Given the description of an element on the screen output the (x, y) to click on. 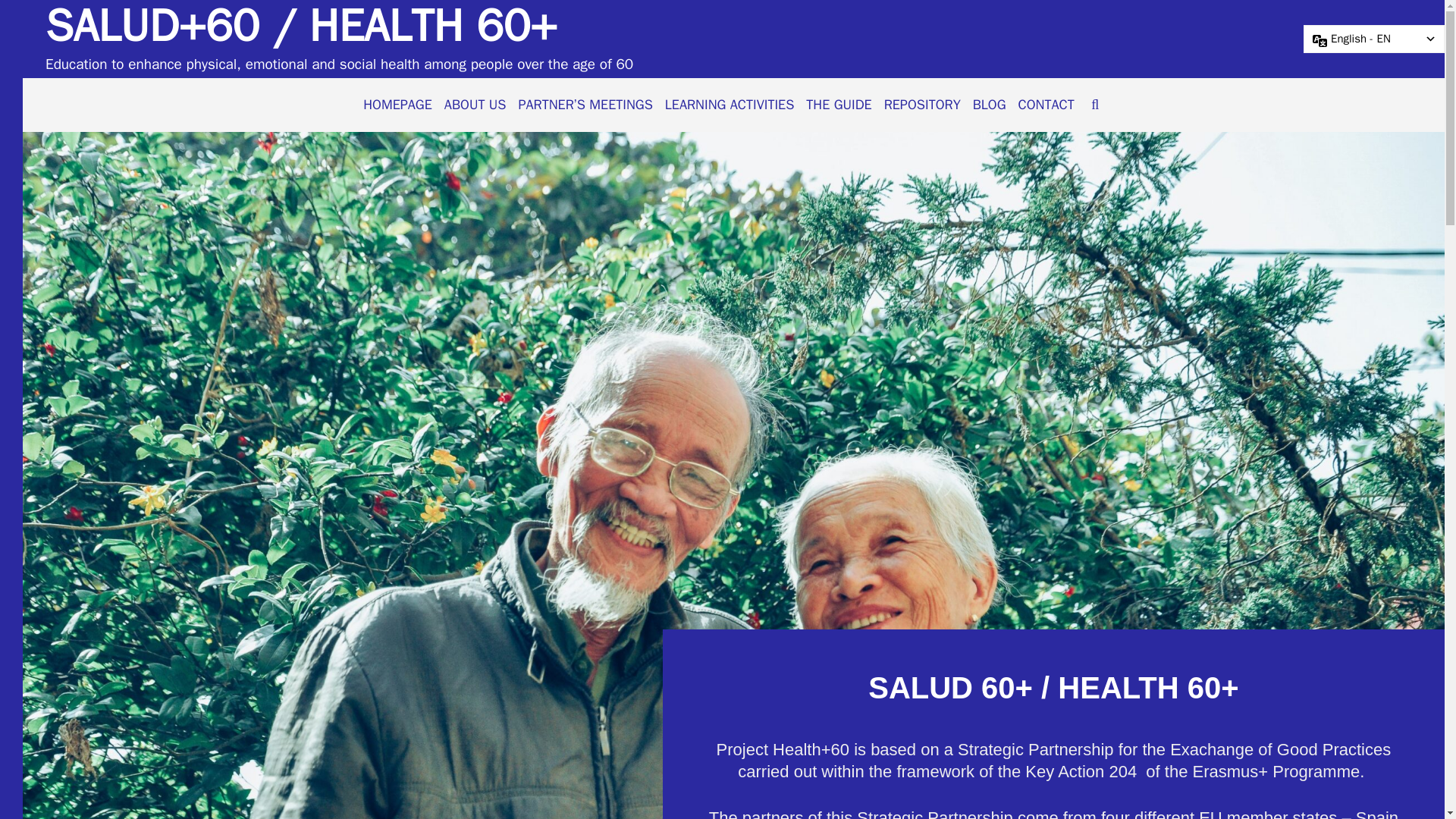
Search (711, 27)
CONTACT (1045, 104)
LEARNING ACTIVITIES (729, 104)
ABOUT US (475, 104)
REPOSITORY (921, 104)
THE GUIDE (838, 104)
HOMEPAGE (397, 104)
